Given the description of an element on the screen output the (x, y) to click on. 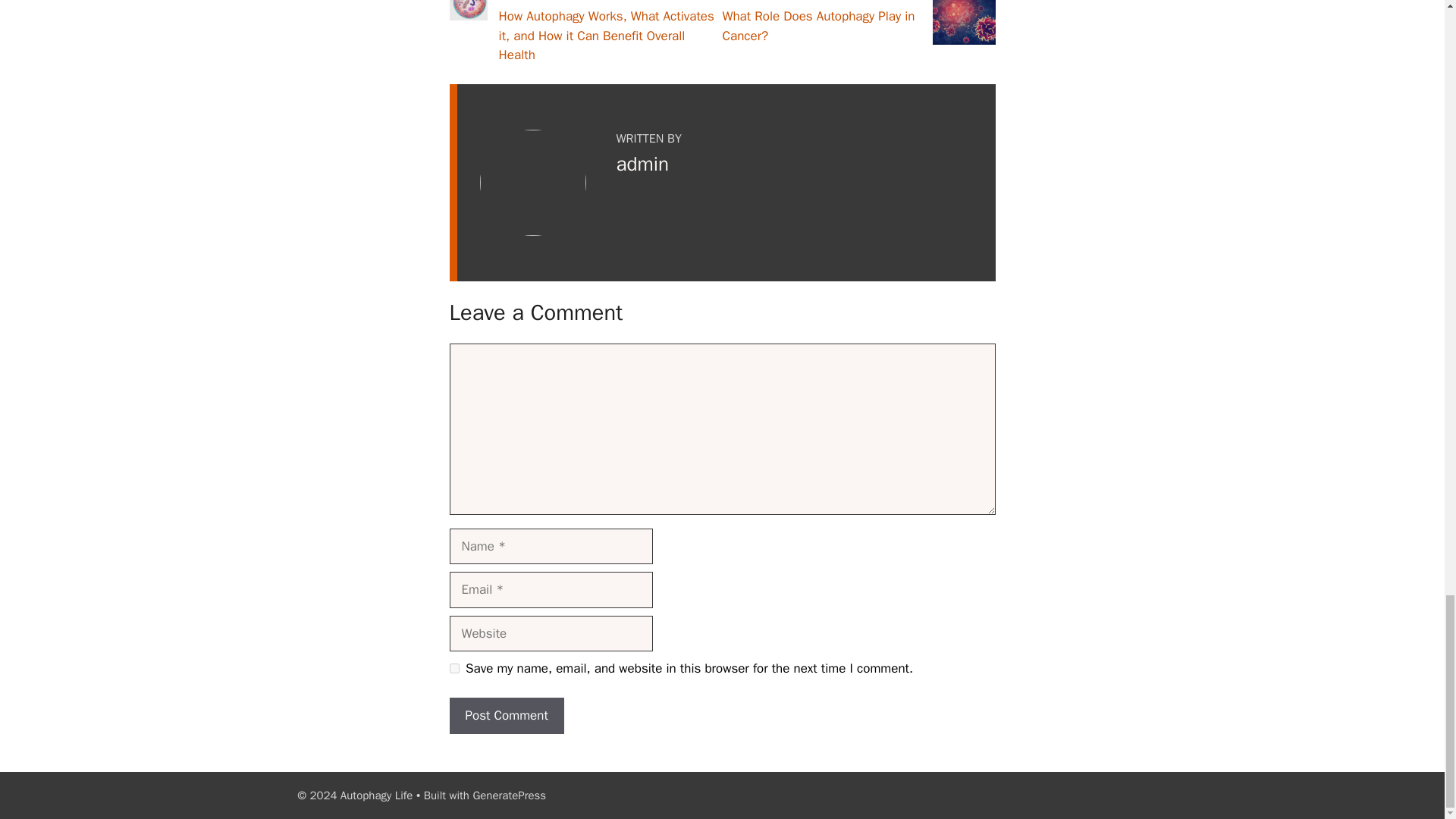
Post Comment (505, 715)
Post Comment (505, 715)
admin (641, 163)
yes (453, 668)
What Role Does Autophagy Play in Cancer? (818, 26)
GeneratePress (508, 794)
